Given the description of an element on the screen output the (x, y) to click on. 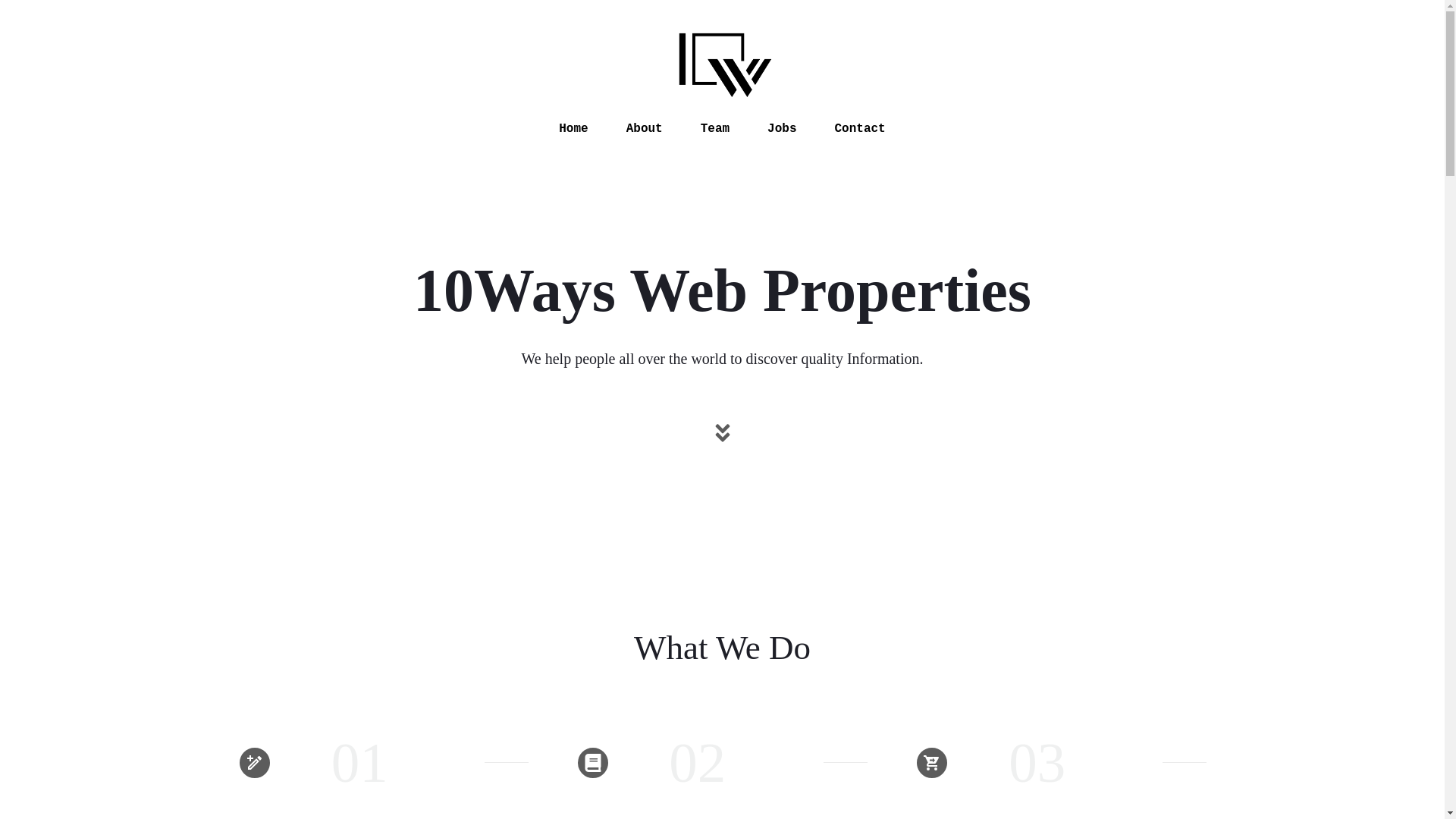
Home Element type: text (572, 128)
About Element type: text (644, 128)
Jobs Element type: text (781, 128)
Contact Element type: text (859, 128)
Team Element type: text (714, 128)
